Given the description of an element on the screen output the (x, y) to click on. 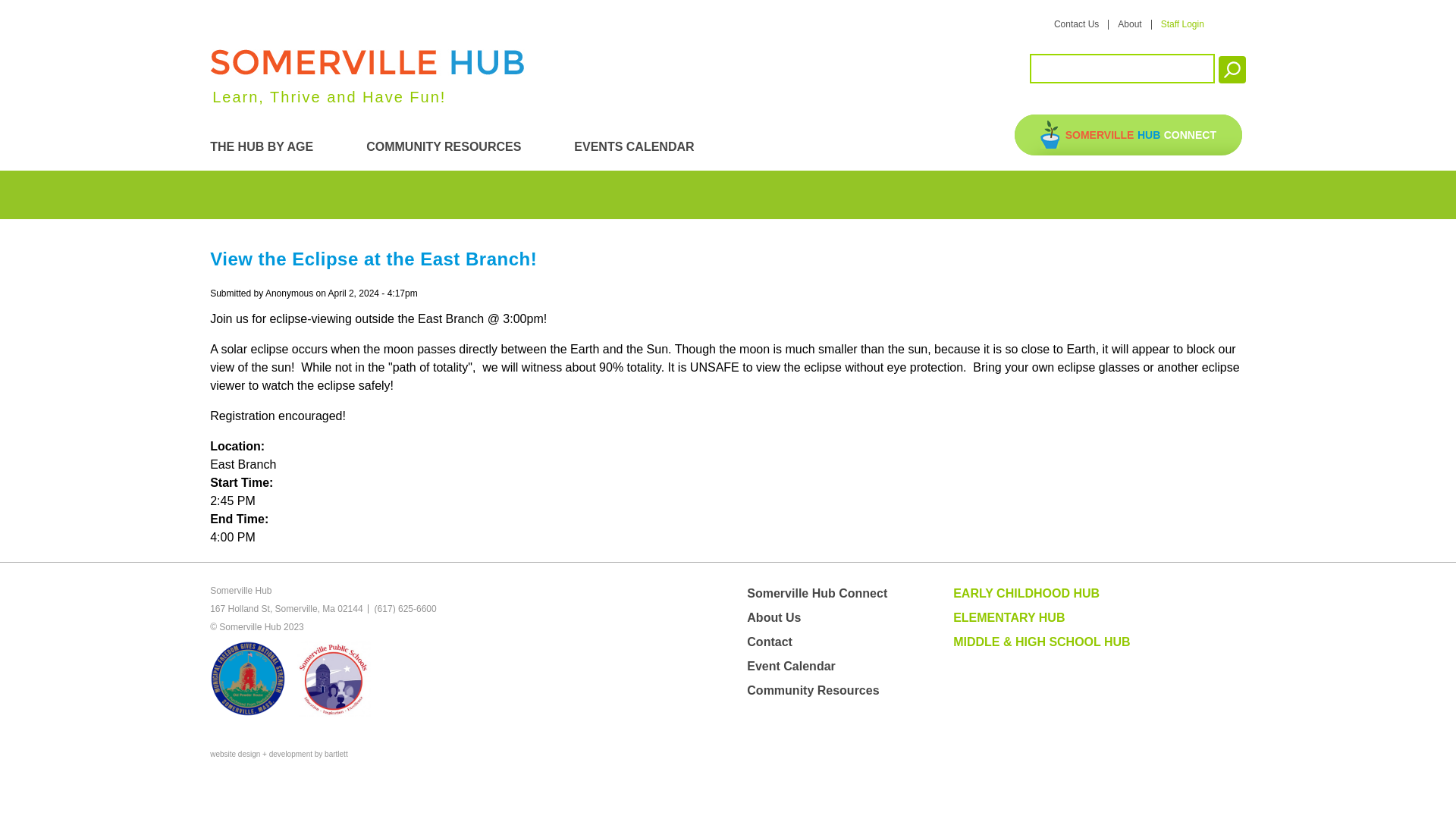
Enter the terms you wish to search for. (1121, 68)
Contact Us (1076, 23)
EVENTS CALENDAR (633, 146)
Search (1232, 69)
THE HUB BY AGE (261, 146)
SOMERVILLE HUB CONNECT (1128, 134)
EARLY CHILDHOOD HUB (1026, 593)
Community Resources (812, 689)
Event Calendar (790, 666)
Contact (769, 641)
bartlett (335, 754)
Somerville Hub Connect (816, 593)
ELEMENTARY HUB (1008, 617)
Home (366, 71)
Staff Login (1182, 23)
